Given the description of an element on the screen output the (x, y) to click on. 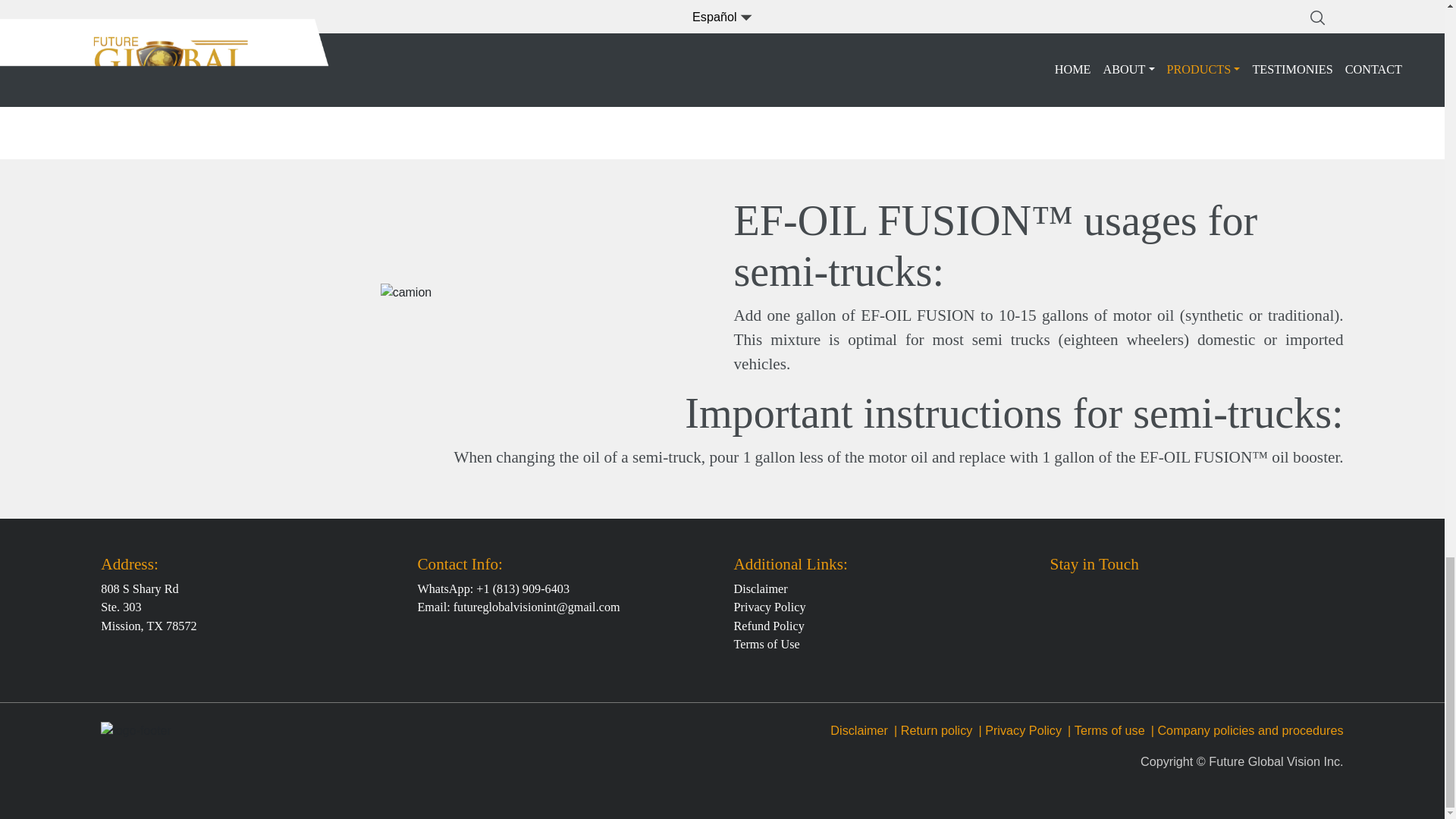
Terms of use (1109, 730)
Privacy Policy (1023, 730)
Return policy (936, 730)
Company policies and procedures (1249, 730)
Terms of Use (766, 644)
Refund Policy (769, 626)
Disclaimer (858, 730)
Disclaimer (760, 589)
Privacy Policy (769, 607)
